Given the description of an element on the screen output the (x, y) to click on. 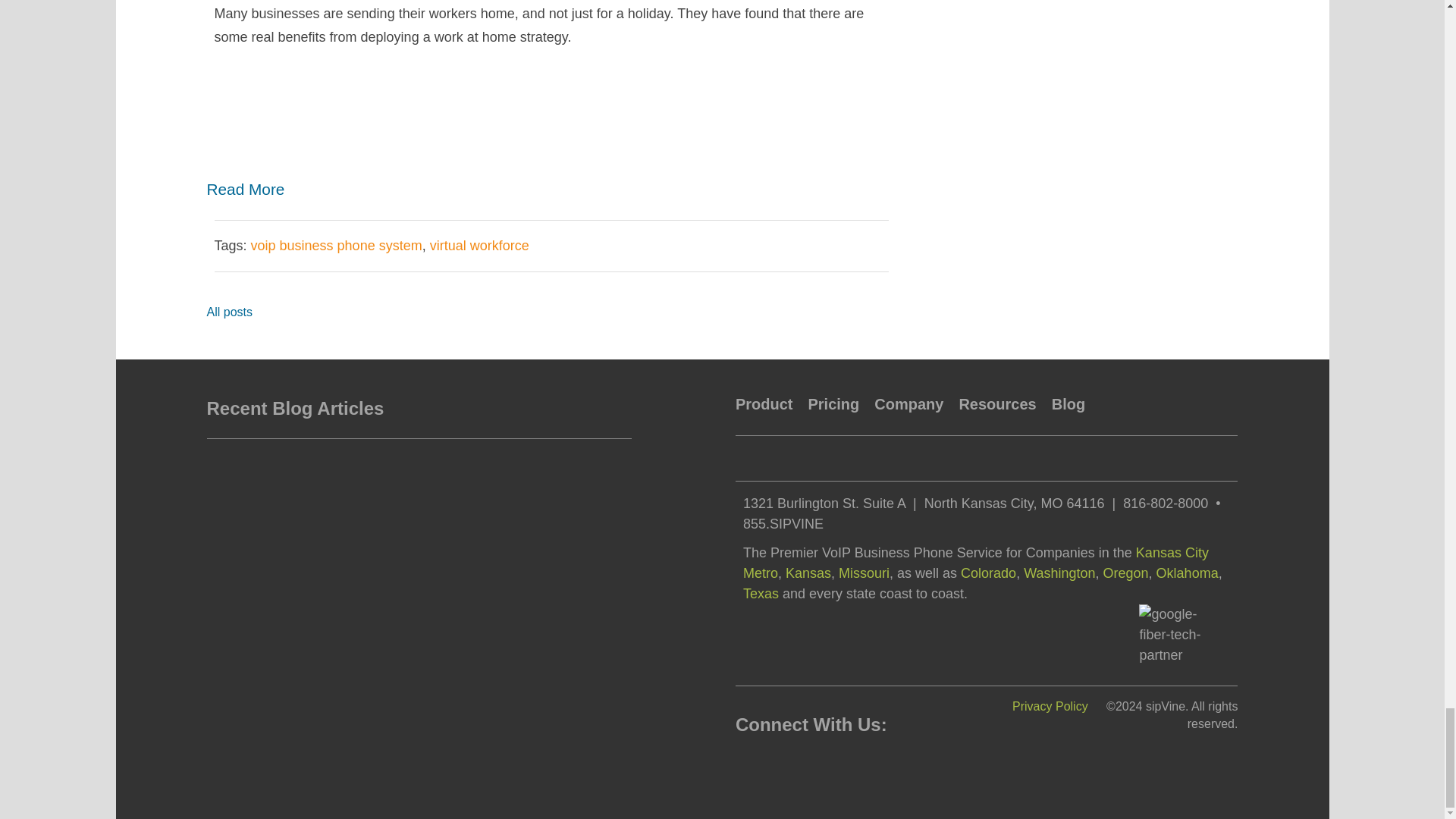
Follow us on Twitter (796, 763)
Follow us on Facebook (747, 763)
Follow us on Linkedin (772, 763)
